Given the description of an element on the screen output the (x, y) to click on. 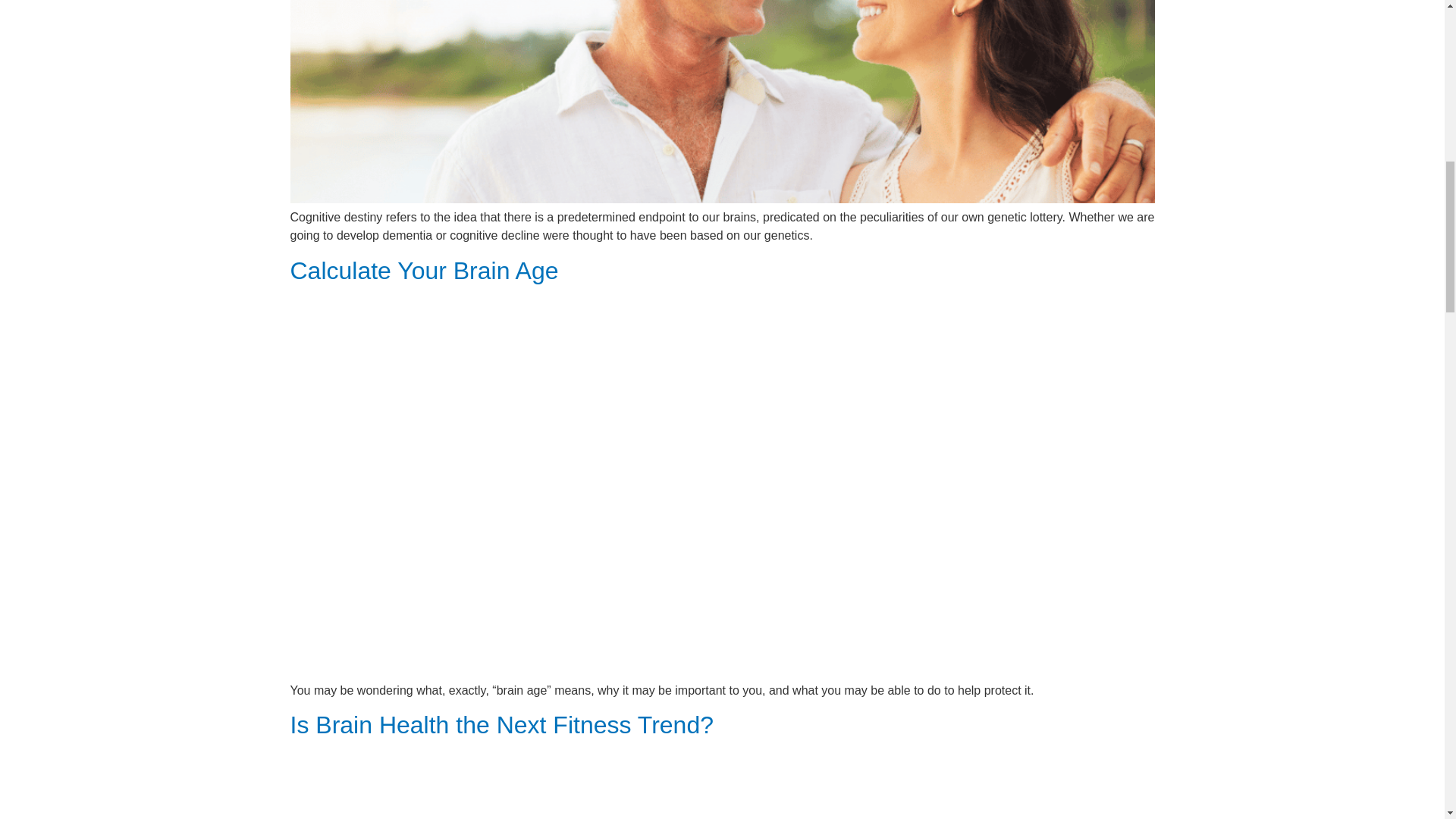
Is Brain Health the Next Fitness Trend? (501, 724)
Calculate Your Brain Age (423, 270)
